Given the description of an element on the screen output the (x, y) to click on. 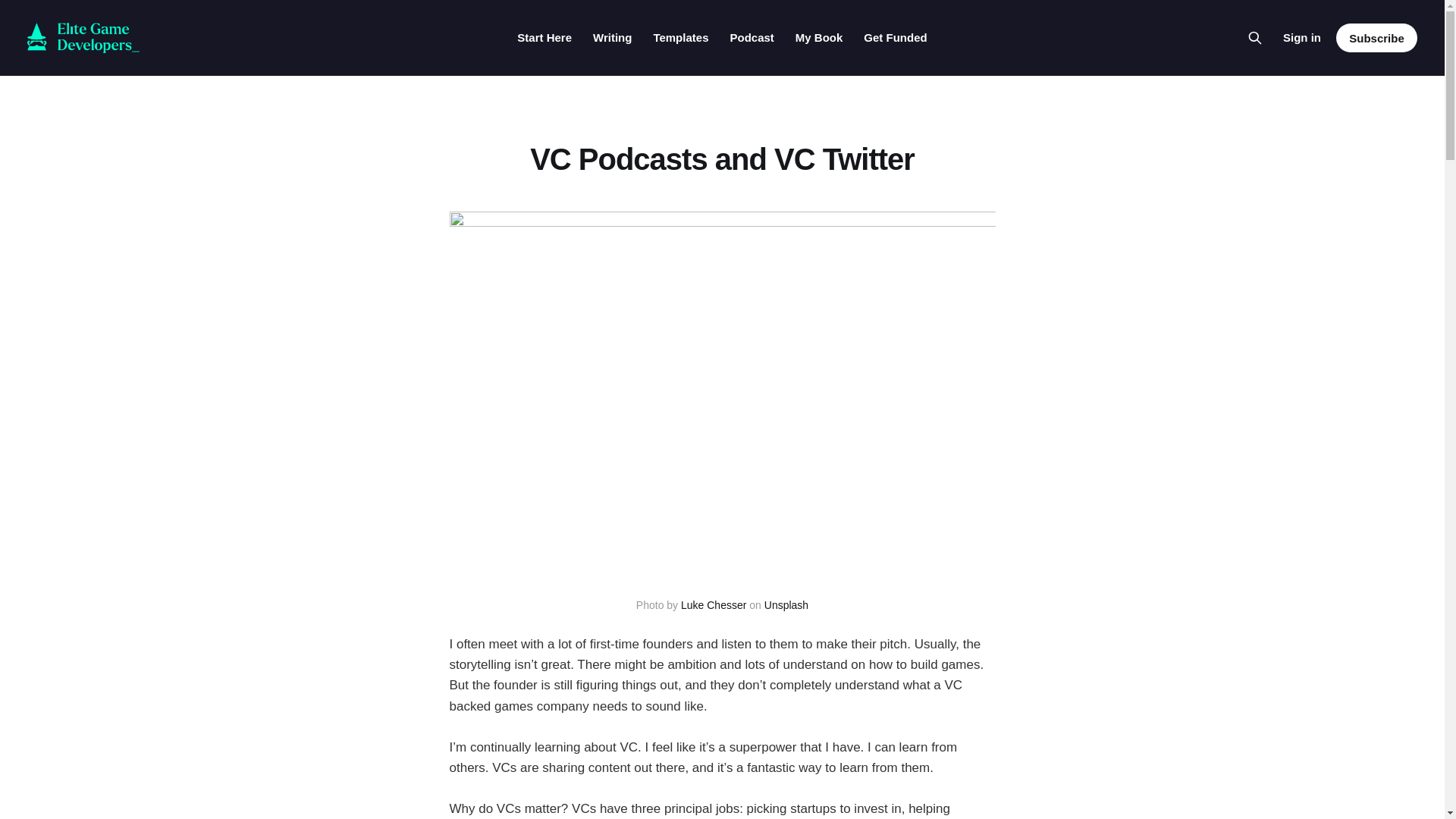
My Book (818, 37)
Podcast (751, 37)
Subscribe (1376, 37)
Sign in (1301, 37)
Get Funded (894, 37)
Writing (611, 37)
Luke Chesser (713, 604)
Templates (679, 37)
Unsplash (786, 604)
Start Here (544, 37)
